Given the description of an element on the screen output the (x, y) to click on. 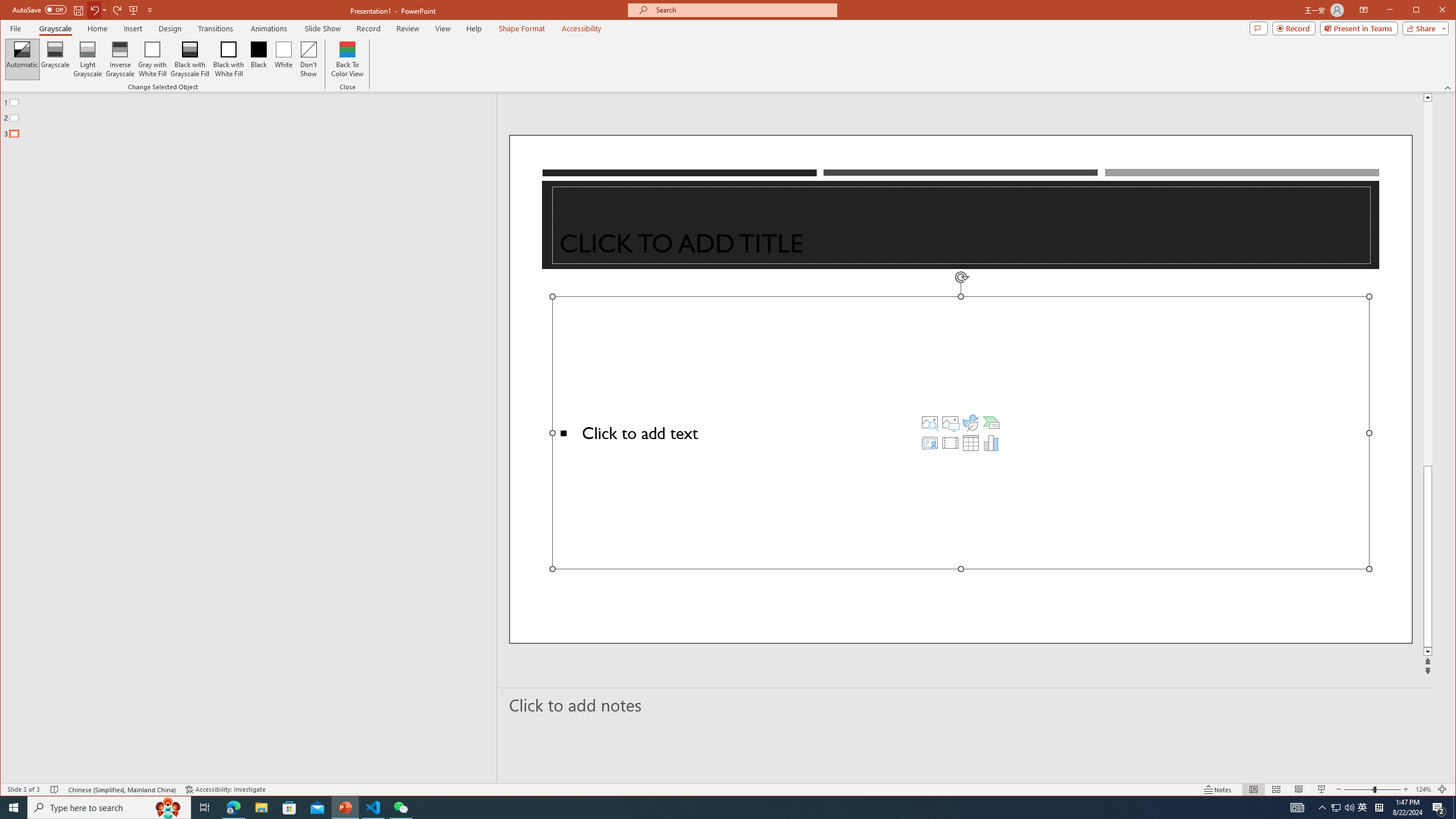
Black (258, 59)
Insert Table (970, 443)
